Given the description of an element on the screen output the (x, y) to click on. 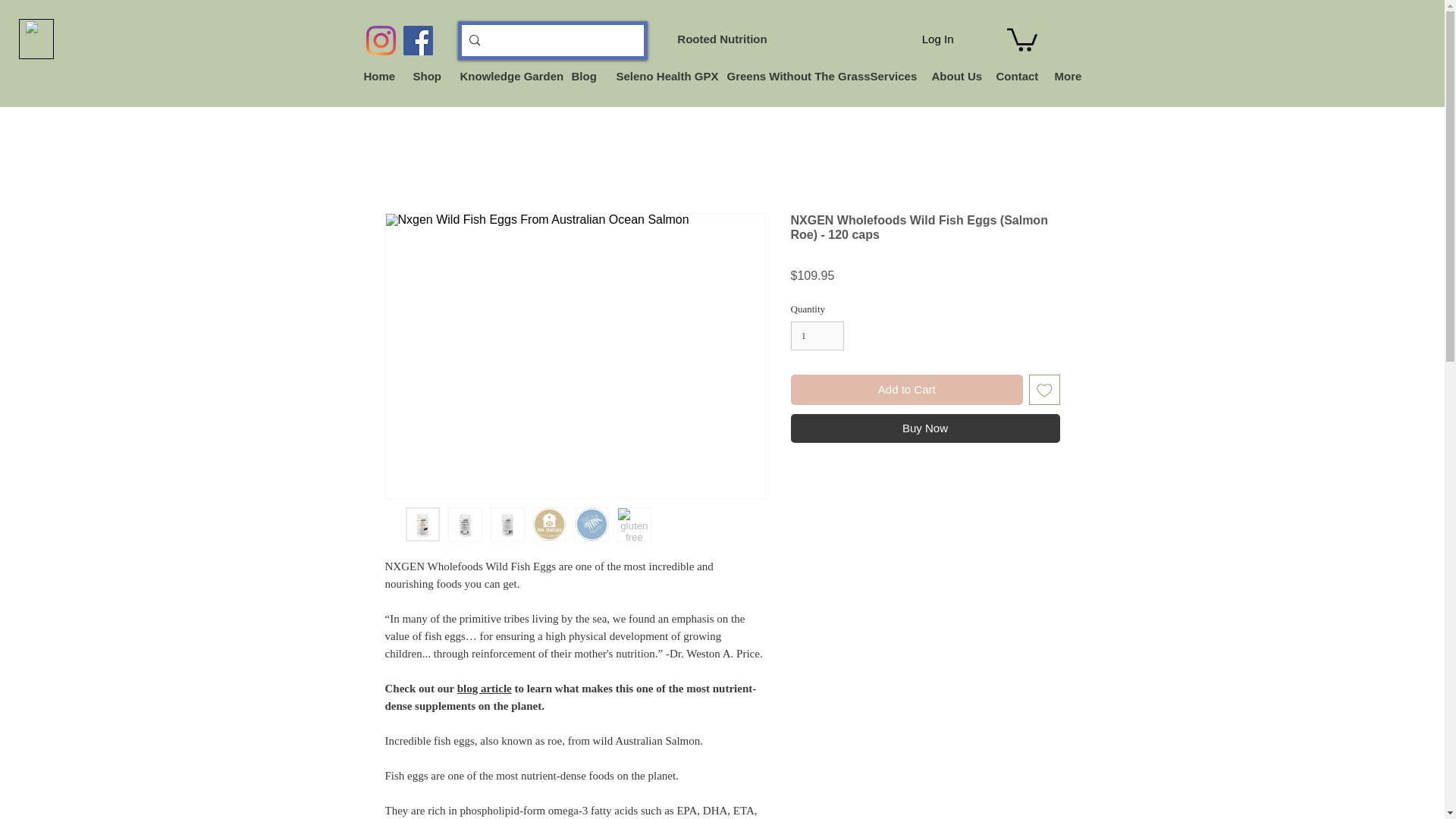
1 (817, 335)
Blog (581, 76)
Log In (937, 38)
Home (376, 76)
Rooted Nutrition (722, 38)
Greens Without The Grass (787, 76)
Services (889, 76)
Seleno Health GPX (660, 76)
Shop (424, 76)
Contact (1013, 76)
Knowledge Garden (504, 76)
About Us (952, 76)
